Given the description of an element on the screen output the (x, y) to click on. 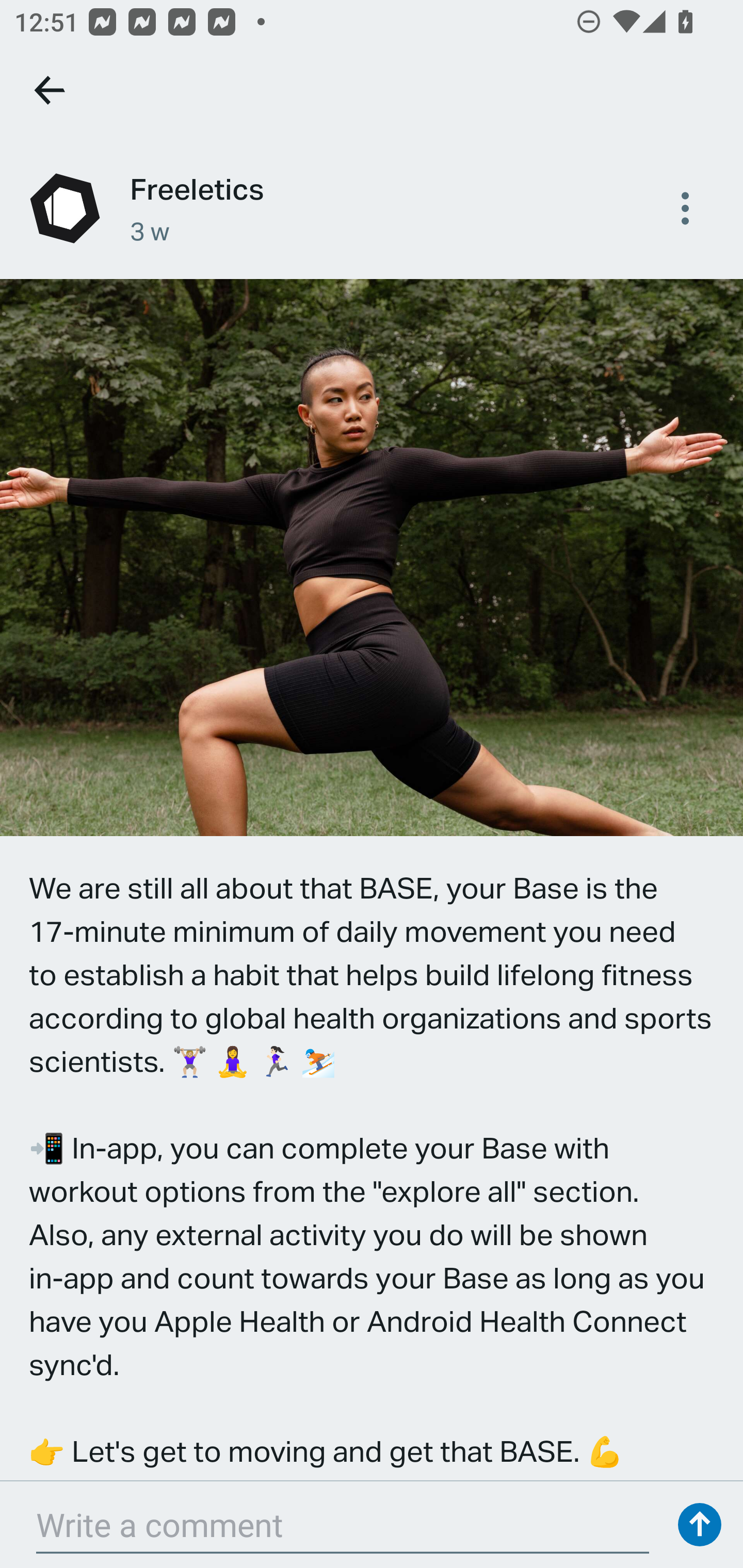
Go back (50, 90)
Freeletics  3 w (371, 208)
Write a comment (342, 1524)
Send (699, 1524)
